Given the description of an element on the screen output the (x, y) to click on. 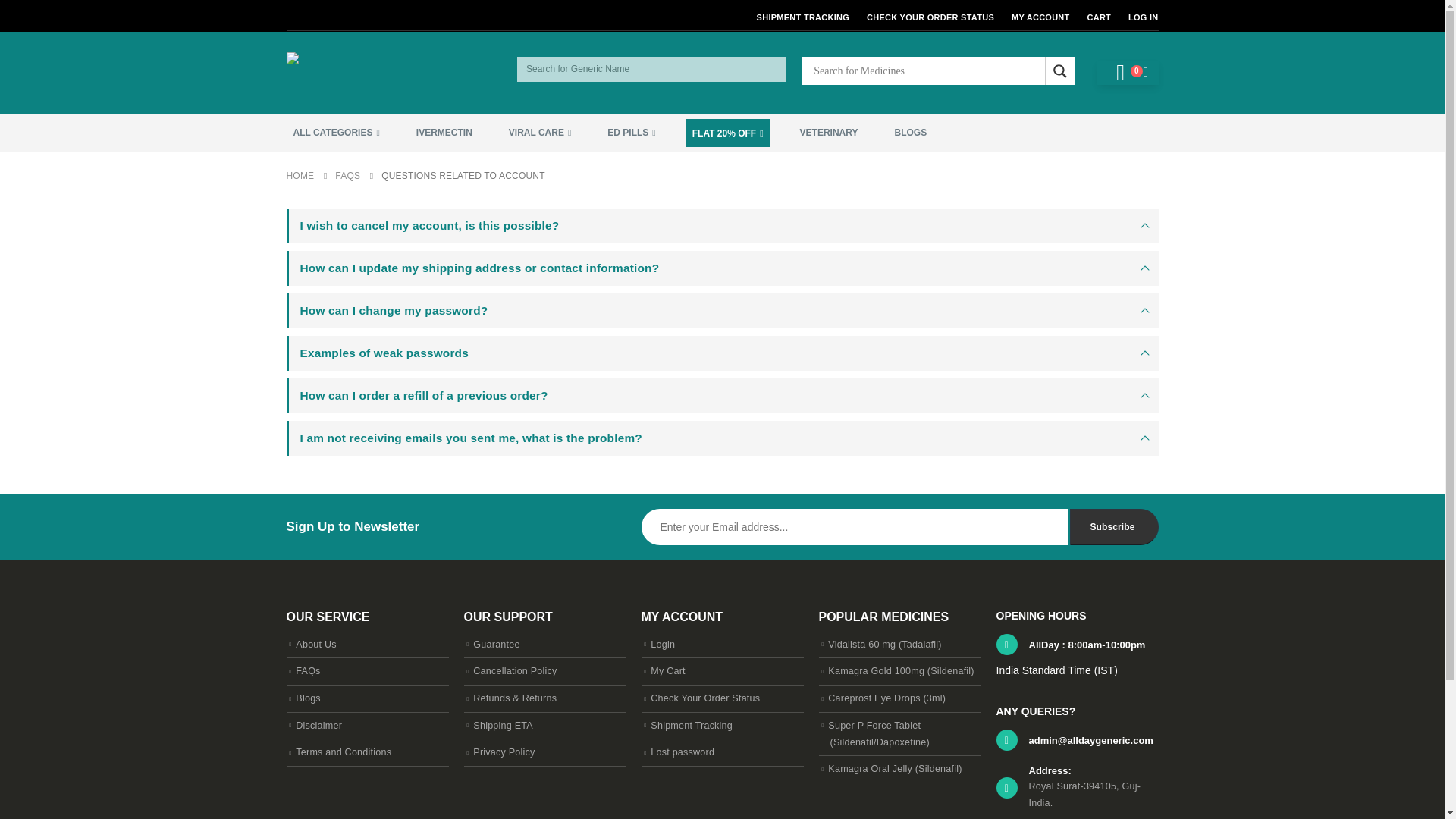
AllDayGeneric - My Online Generic Store (381, 72)
CHECK YOUR ORDER STATUS (930, 17)
LOG IN (1140, 17)
Go to Home Page (300, 175)
SHIPMENT TRACKING (805, 17)
ALL CATEGORIES (336, 132)
MY ACCOUNT (1040, 17)
CART (1099, 17)
Subscribe (1113, 526)
